Given the description of an element on the screen output the (x, y) to click on. 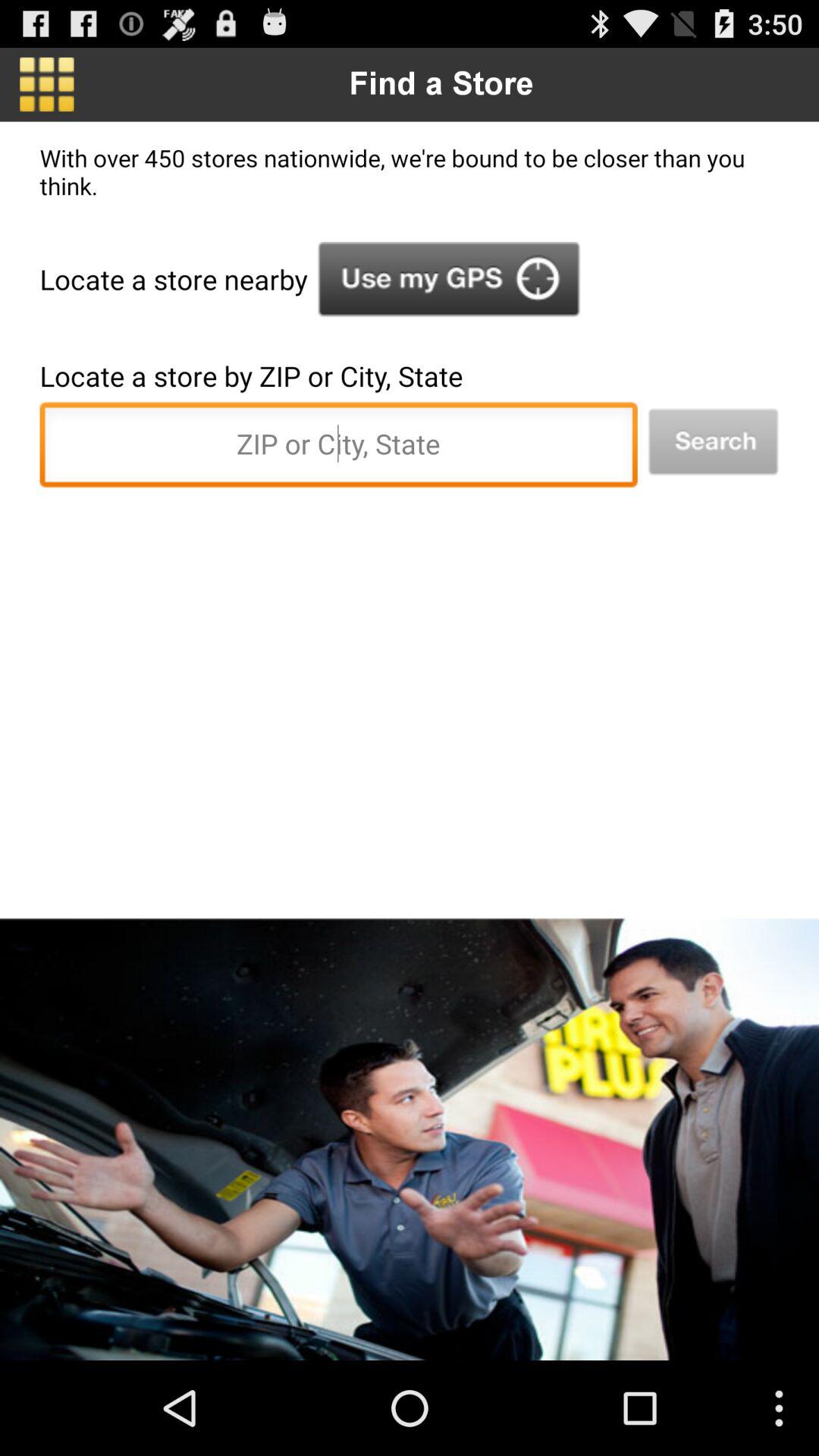
click to search (713, 442)
